Given the description of an element on the screen output the (x, y) to click on. 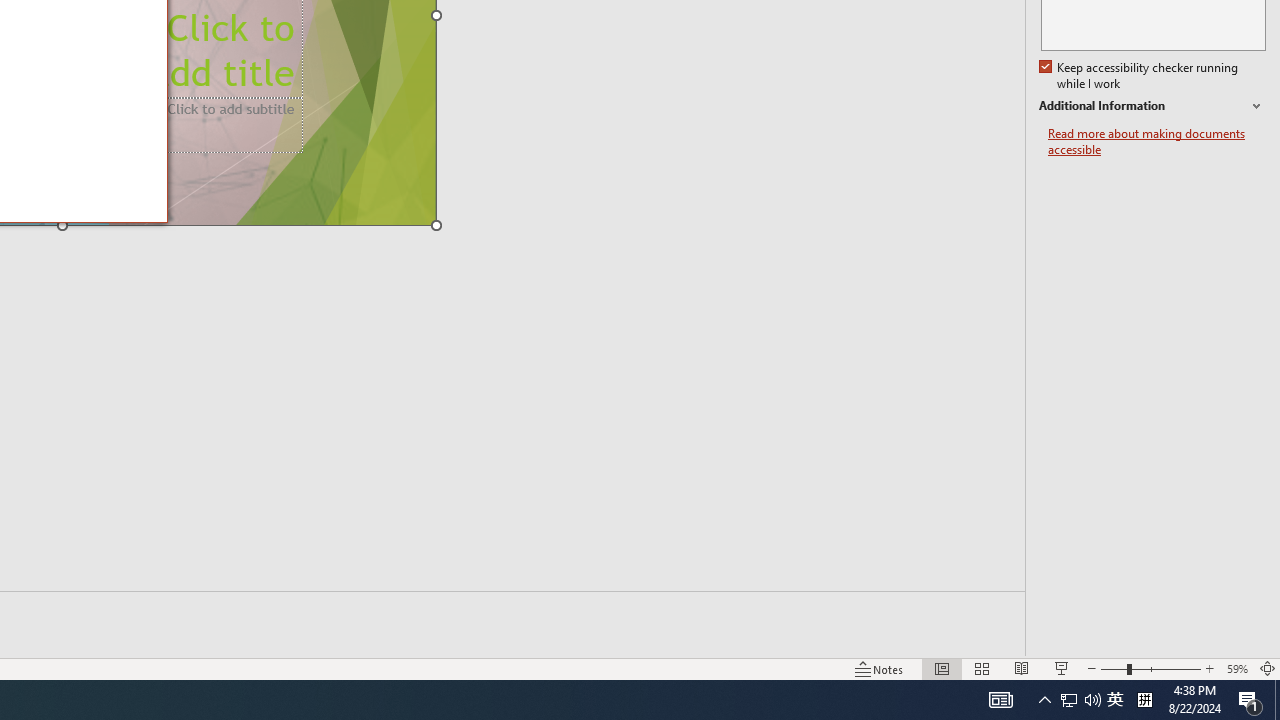
Keep accessibility checker running while I work (1140, 76)
